Given the description of an element on the screen output the (x, y) to click on. 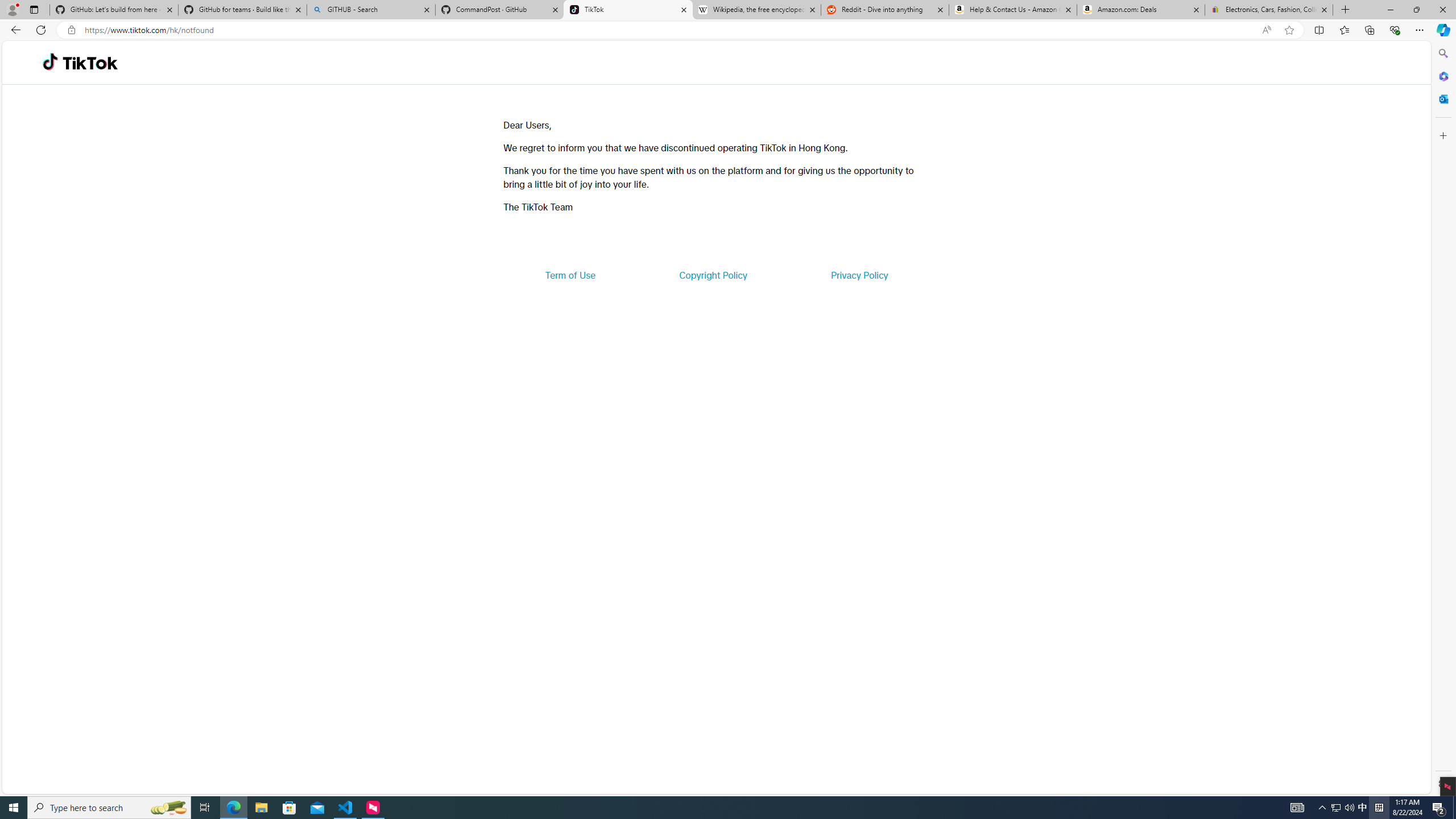
Amazon.com: Deals (1140, 9)
Term of Use (569, 274)
Privacy Policy (858, 274)
TikTok (89, 62)
TikTok (628, 9)
GITHUB - Search (370, 9)
